Given the description of an element on the screen output the (x, y) to click on. 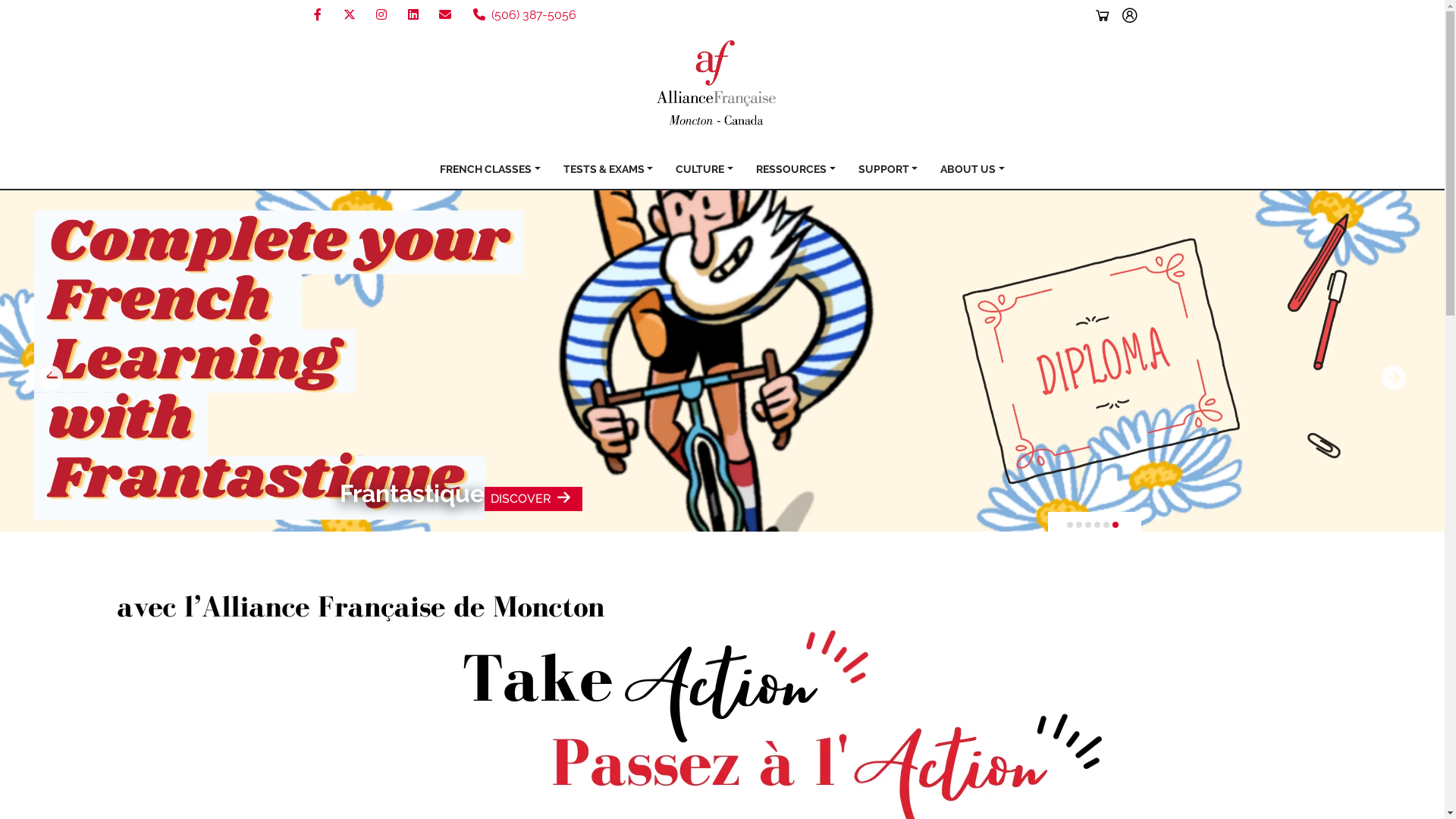
Frantastique Element type: text (411, 493)
Twitter Element type: hover (348, 15)
Login Element type: hover (1129, 15)
(506) 387-5056 Element type: text (524, 15)
CULTURE Element type: text (704, 169)
FRENCH CLASSES Element type: text (490, 169)
Instagram Element type: hover (381, 15)
My cart Element type: hover (1102, 15)
ABOUT US Element type: text (972, 169)
DISCOVER Element type: text (533, 498)
Facebook Element type: hover (317, 15)
SUPPORT Element type: text (888, 169)
E-mail Element type: hover (444, 15)
RESSOURCES Element type: text (795, 169)
TESTS & EXAMS Element type: text (608, 169)
LinkedIn Element type: hover (412, 15)
